Given the description of an element on the screen output the (x, y) to click on. 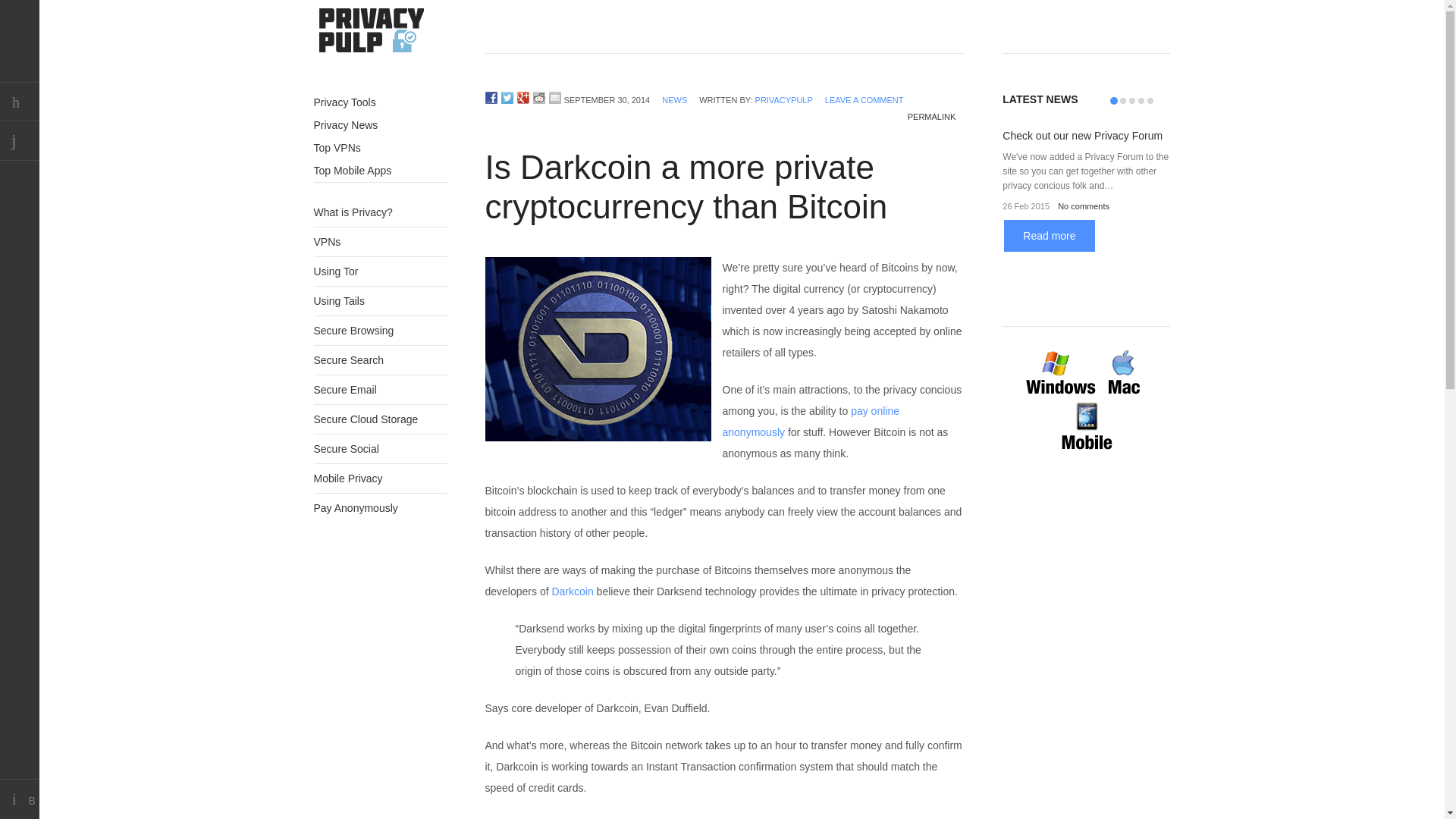
Privacy Tools (380, 101)
NEWS (674, 99)
Check out our new Privacy Forum (1082, 135)
Secure Browsing (354, 330)
Privacy News (380, 124)
Read more (1049, 235)
Using Tails (339, 300)
Using Tor (336, 271)
LEAVE A COMMENT (864, 99)
Share by email (554, 97)
